Given the description of an element on the screen output the (x, y) to click on. 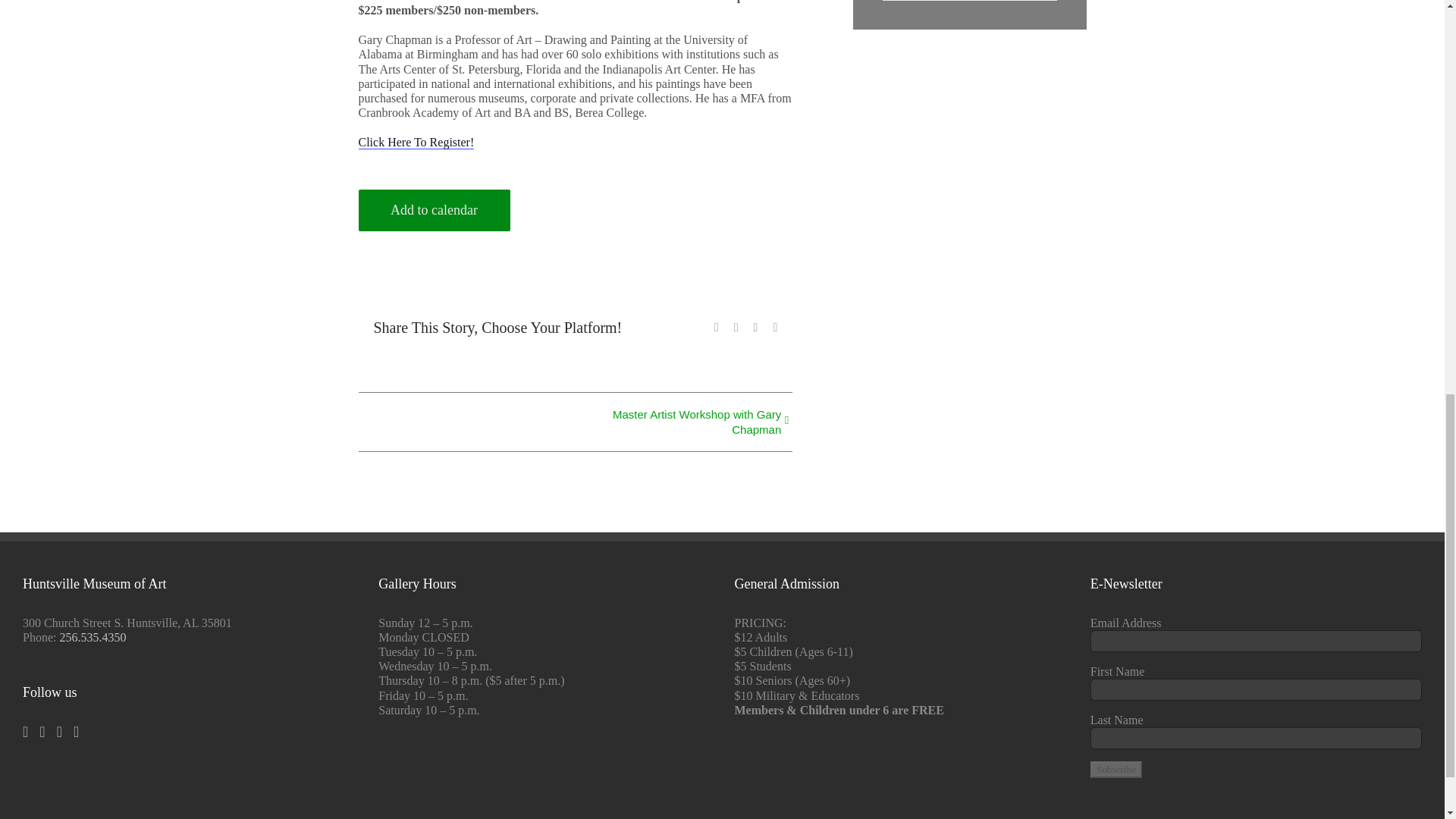
Subscribe (1116, 769)
